Given the description of an element on the screen output the (x, y) to click on. 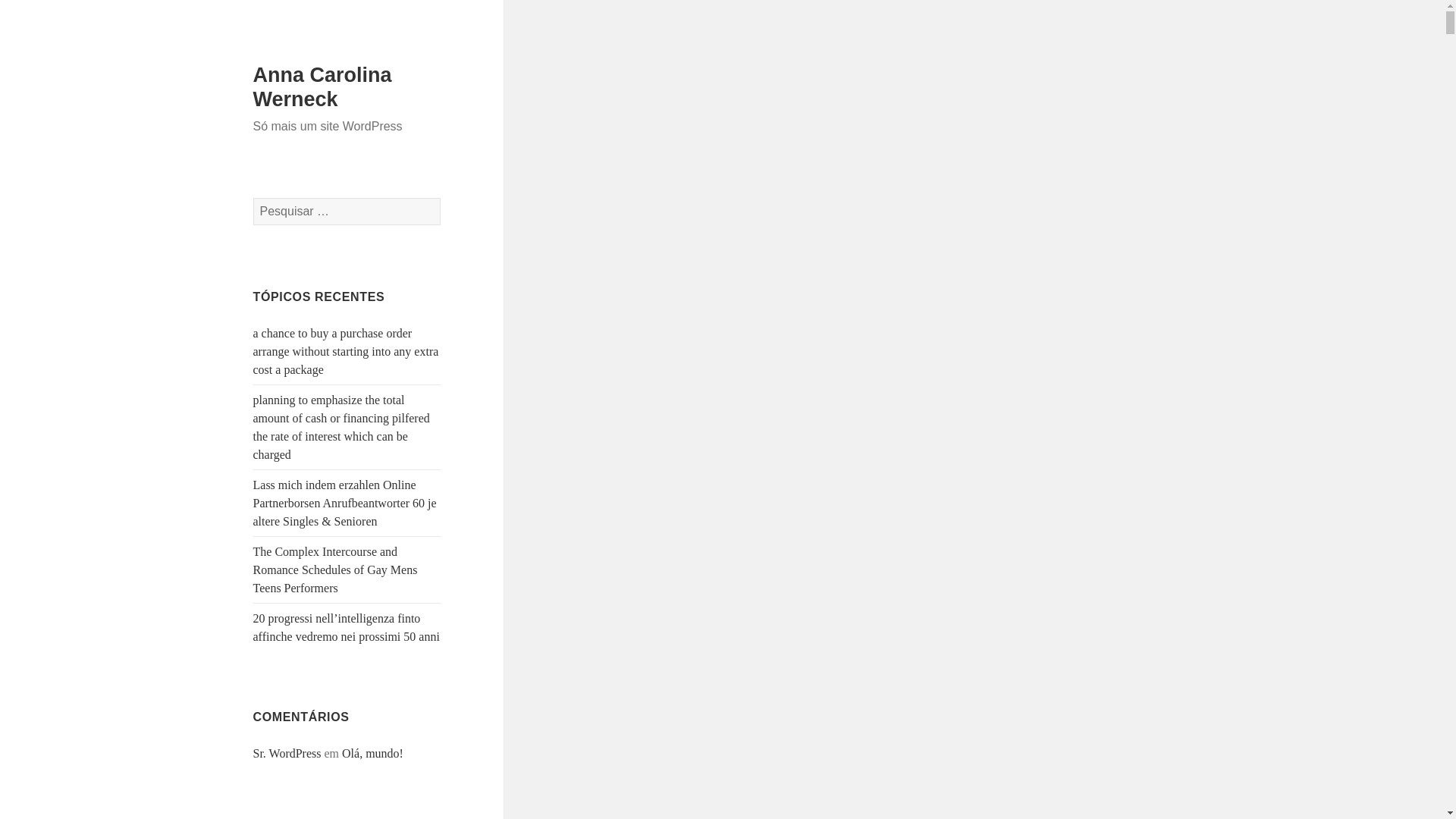
Sr. WordPress (287, 753)
Anna Carolina Werneck (322, 86)
Pesquisar por: (347, 211)
